Given the description of an element on the screen output the (x, y) to click on. 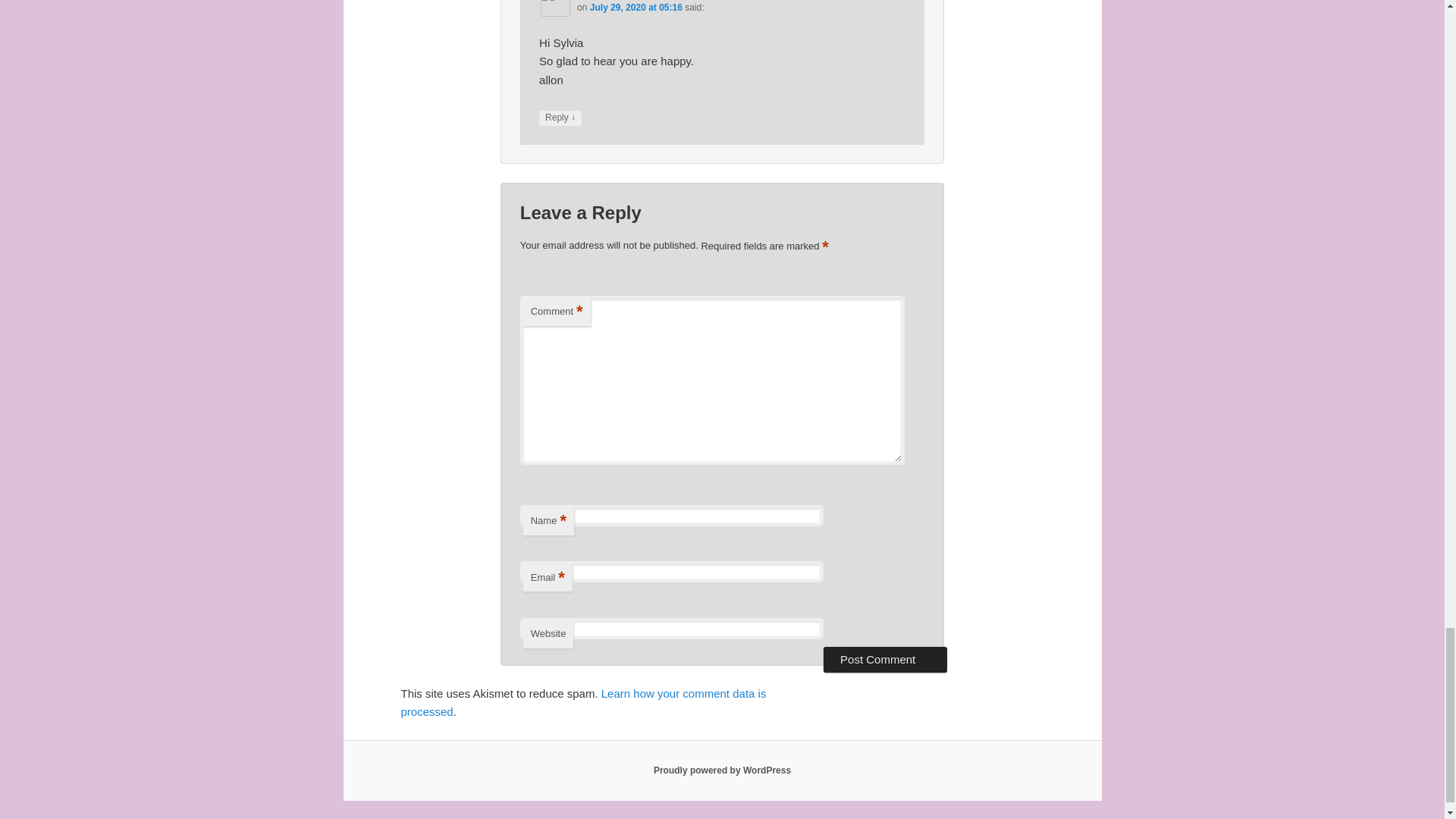
Proudly powered by WordPress (721, 769)
Post Comment (885, 659)
Post Comment (885, 659)
July 29, 2020 at 05:16 (635, 7)
Learn how your comment data is processed (582, 702)
Semantic Personal Publishing Platform (721, 769)
